Given the description of an element on the screen output the (x, y) to click on. 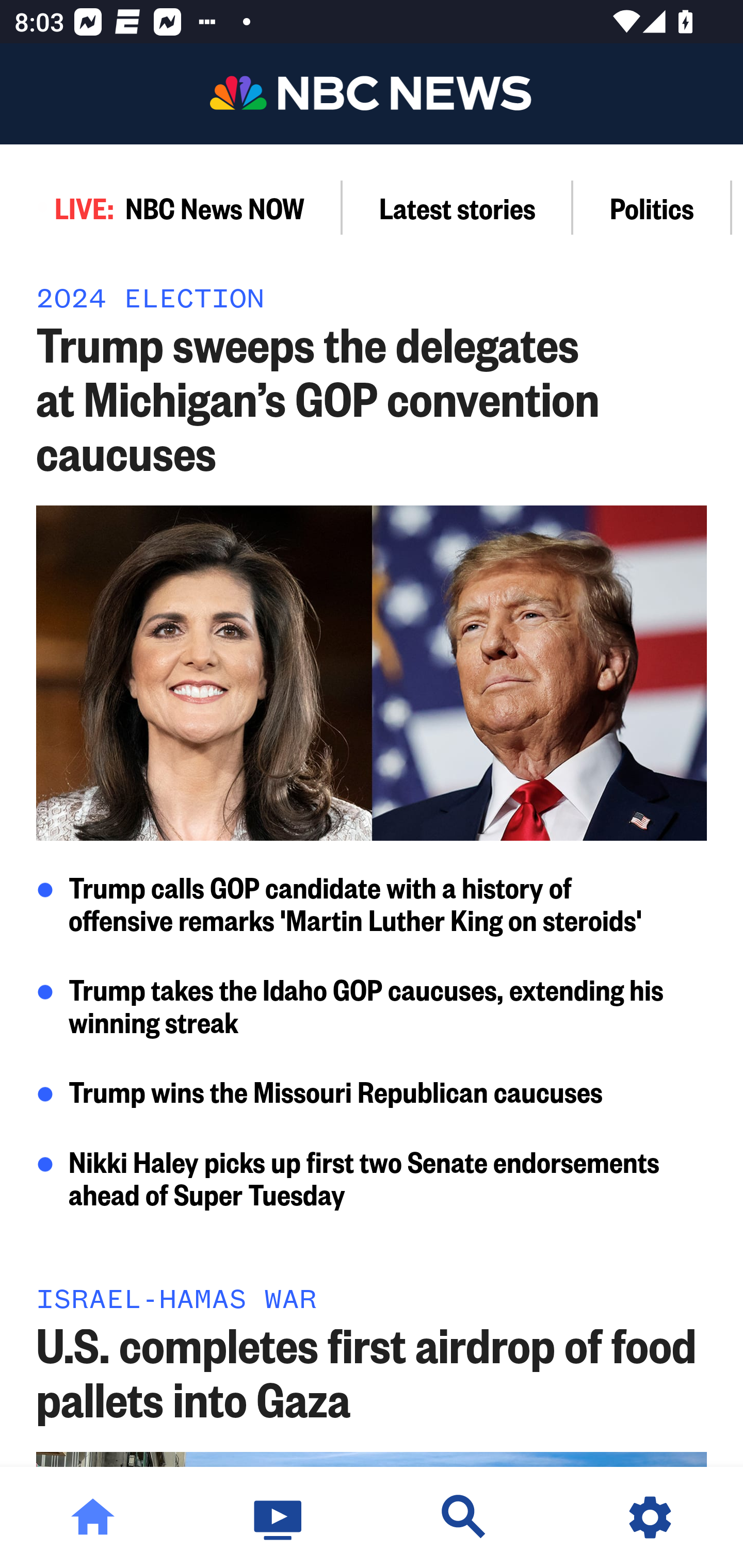
LIVE:  NBC News NOW (171, 207)
Latest stories Section,Latest stories (457, 207)
Politics Section,Politics (652, 207)
Watch (278, 1517)
Discover (464, 1517)
Settings (650, 1517)
